Given the description of an element on the screen output the (x, y) to click on. 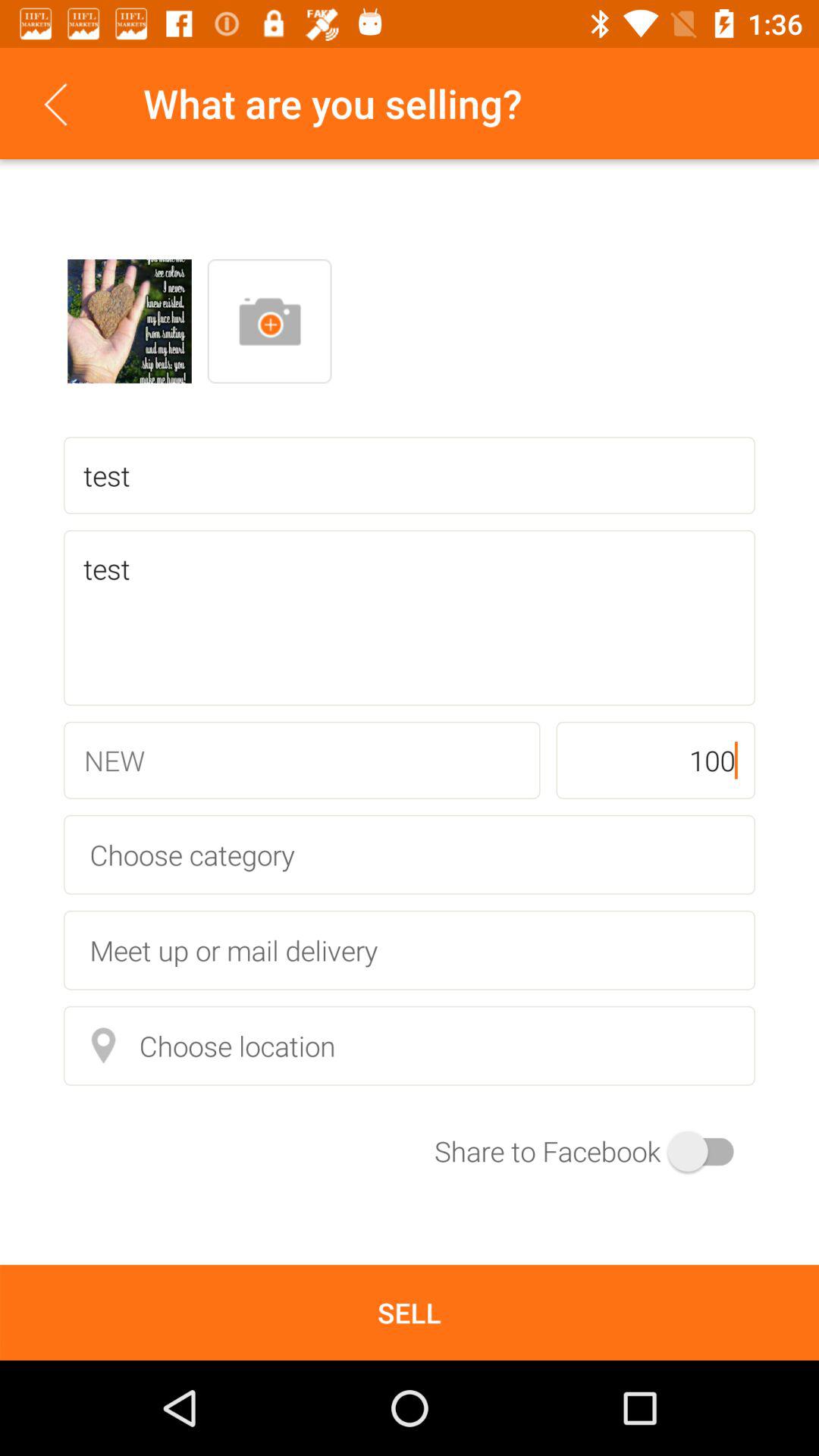
turn on the item below choose location icon (594, 1151)
